Given the description of an element on the screen output the (x, y) to click on. 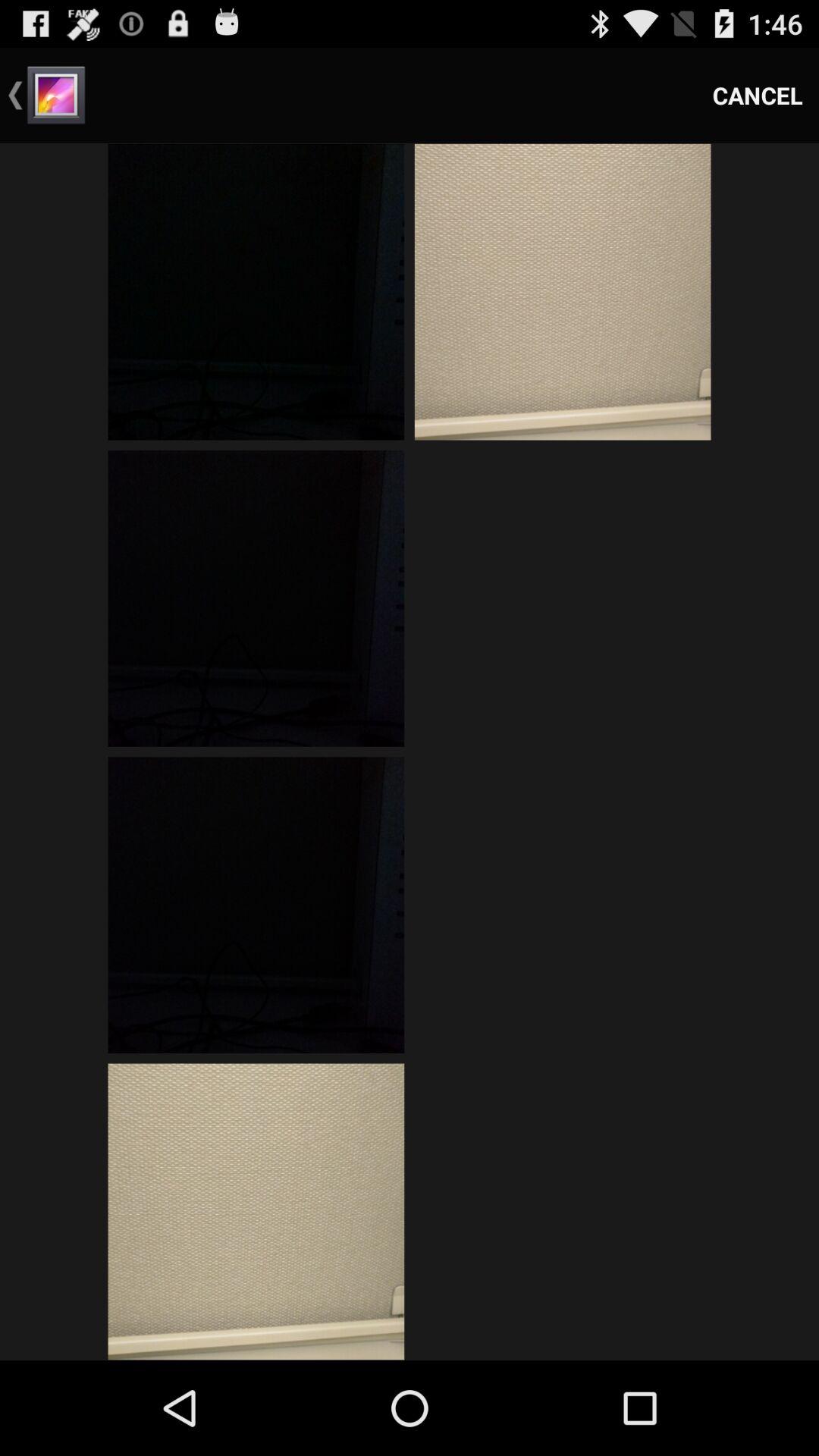
select the cancel (757, 95)
